Given the description of an element on the screen output the (x, y) to click on. 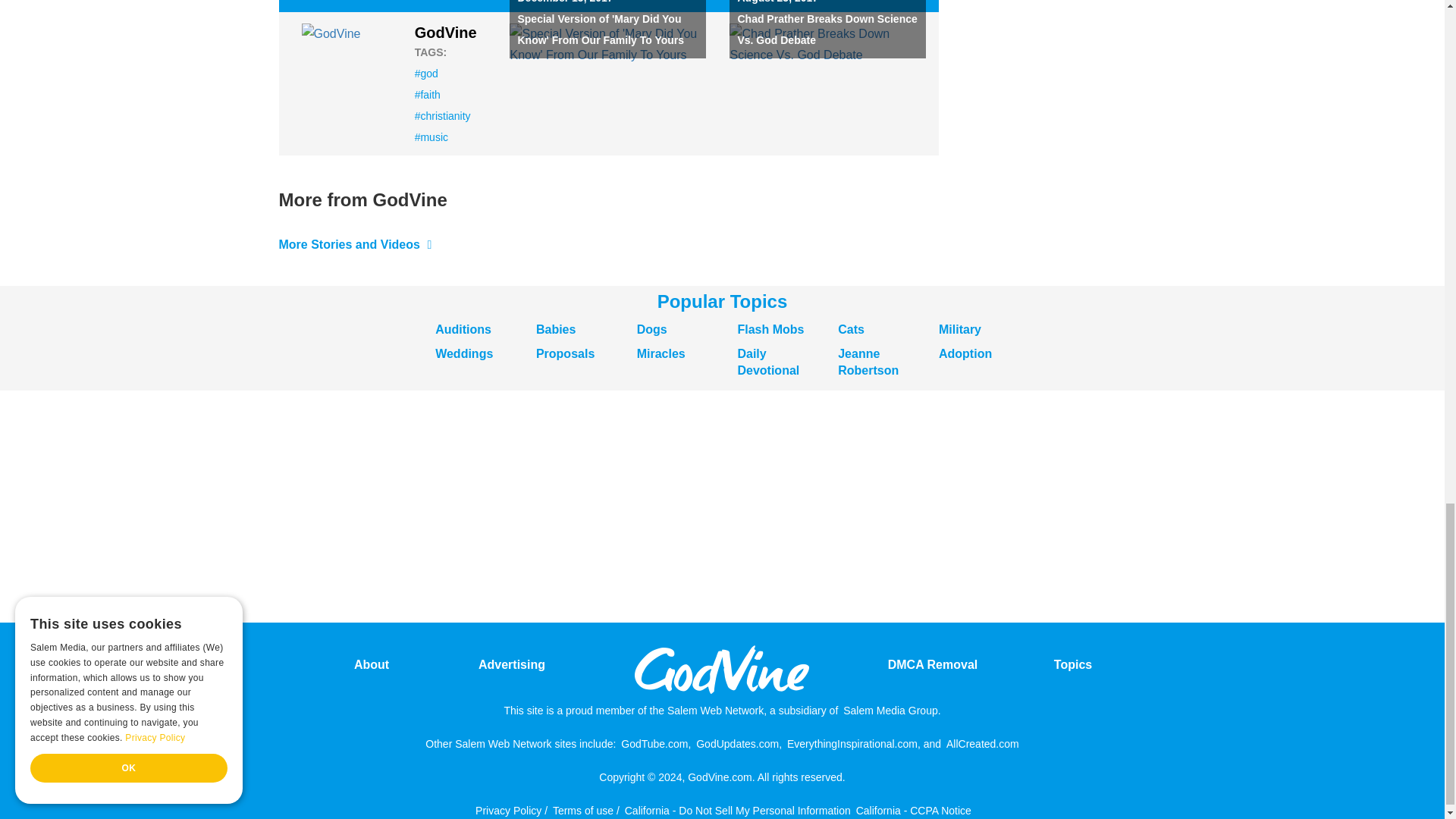
Terms of use (582, 808)
GodVine Desktop Embed - Footer - GodVine Daily Update (670, 506)
Privacy Policy (508, 808)
